Given the description of an element on the screen output the (x, y) to click on. 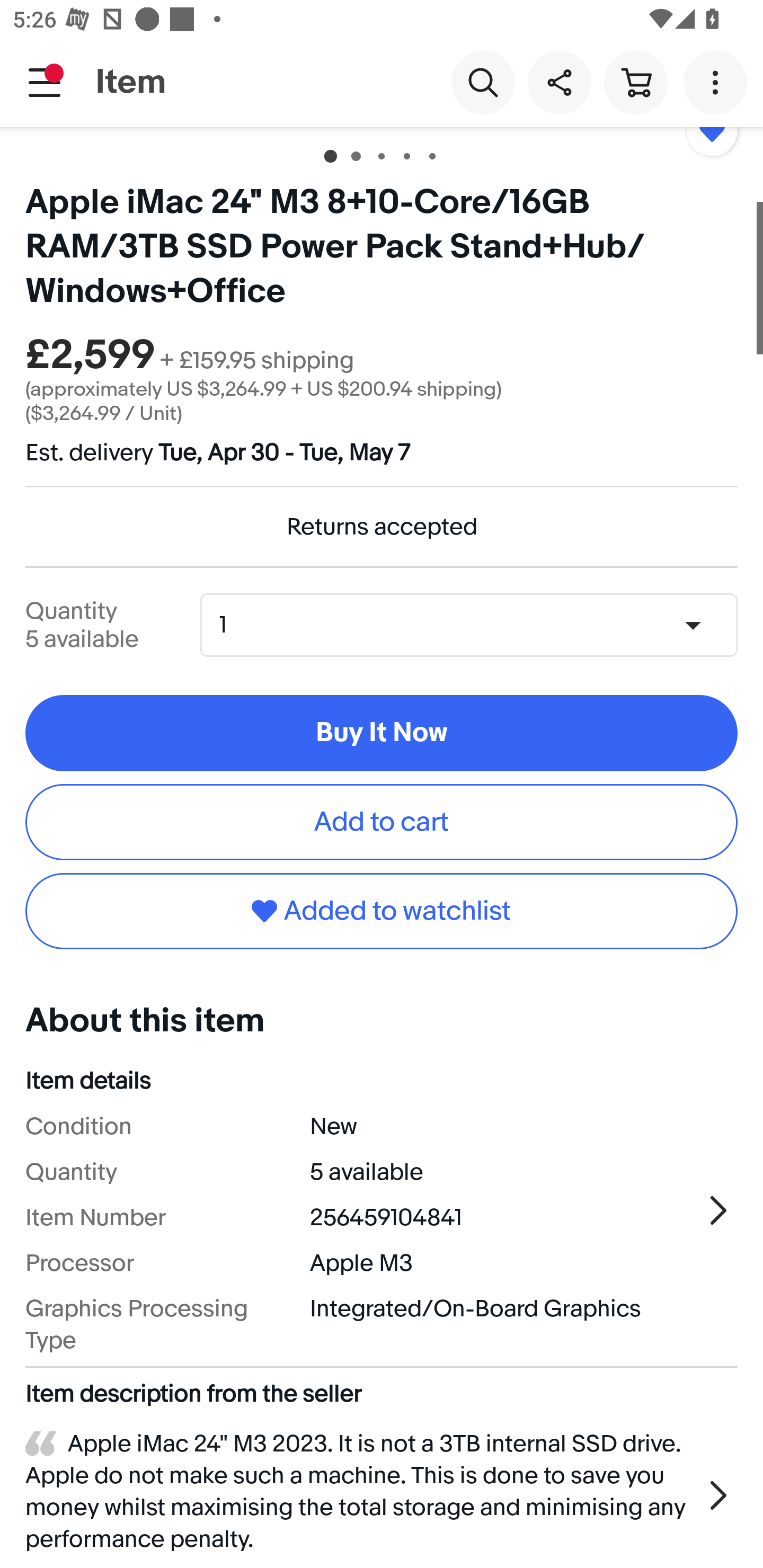
Main navigation, notification is pending, open (44, 82)
Search (482, 81)
Share this item (559, 81)
Cart button shopping cart (635, 81)
More options (718, 81)
Quantity,1,5 available 1 (474, 624)
Buy It Now (381, 732)
Add to cart (381, 822)
Added to watchlist (381, 910)
